Given the description of an element on the screen output the (x, y) to click on. 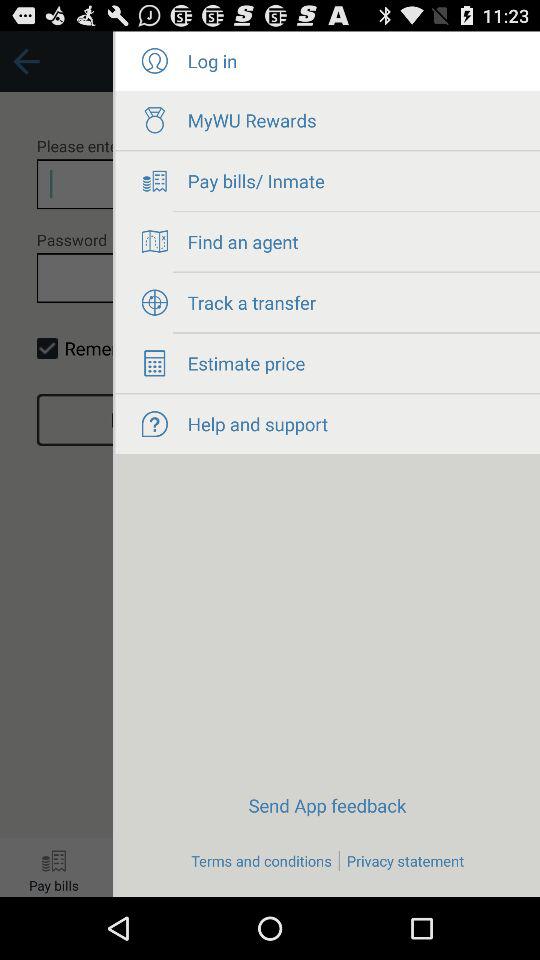
login (154, 61)
